Given the description of an element on the screen output the (x, y) to click on. 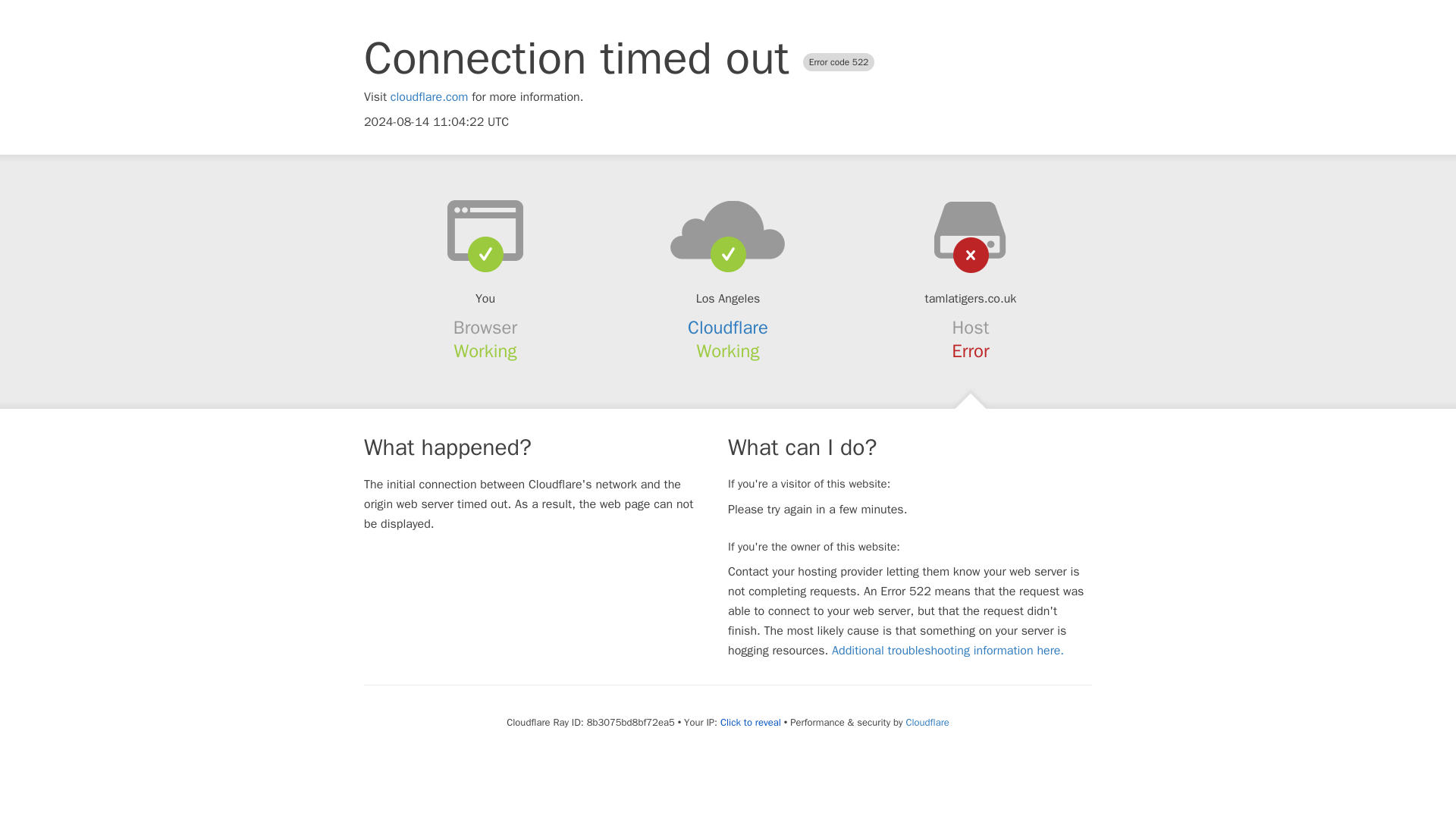
cloudflare.com (429, 96)
Additional troubleshooting information here. (947, 650)
Cloudflare (927, 721)
Cloudflare (727, 327)
Click to reveal (750, 722)
